Given the description of an element on the screen output the (x, y) to click on. 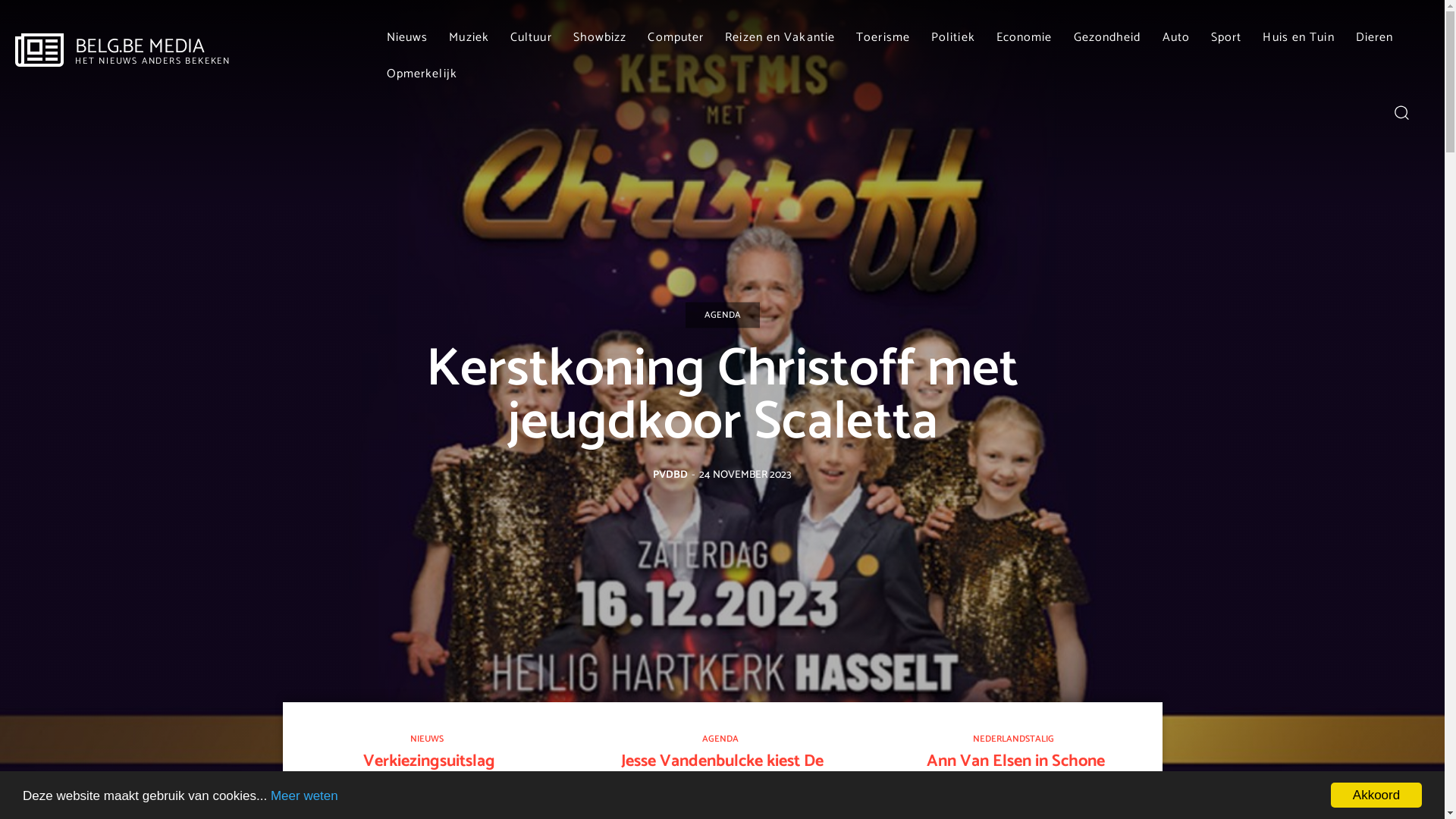
Computer Element type: text (675, 37)
Toerisme Element type: text (882, 37)
Gezondheid Element type: text (1107, 37)
Sport Element type: text (1226, 37)
Ann Van Elsen in Schone Vrouwen-podcast Element type: text (1015, 770)
Meer weten Element type: text (304, 795)
AGENDA Element type: text (722, 314)
Akkoord Element type: text (1375, 794)
Nieuws Element type: text (407, 37)
Economie Element type: text (1024, 37)
Opmerkelijk Element type: text (421, 74)
BELG.BE MEDIA
HET NIEUWS ANDERS BEKEKEN Element type: text (122, 51)
Showbizz Element type: text (599, 37)
Politiek Element type: text (952, 37)
Dieren Element type: text (1374, 37)
Kerstkoning Christoff met jeugdkoor Scaletta Element type: text (722, 396)
Muziek Element type: text (468, 37)
PVDBD Element type: text (669, 474)
Auto Element type: text (1175, 37)
NIEUWS Element type: text (426, 739)
AGENDA Element type: text (720, 739)
Huis en Tuin Element type: text (1298, 37)
NEDERLANDSTALIG Element type: text (1013, 739)
Jesse Vandenbulcke kiest De Ceuster Bonache Element type: text (722, 770)
Cultuur Element type: text (530, 37)
Reizen en Vakantie Element type: text (779, 37)
